Given the description of an element on the screen output the (x, y) to click on. 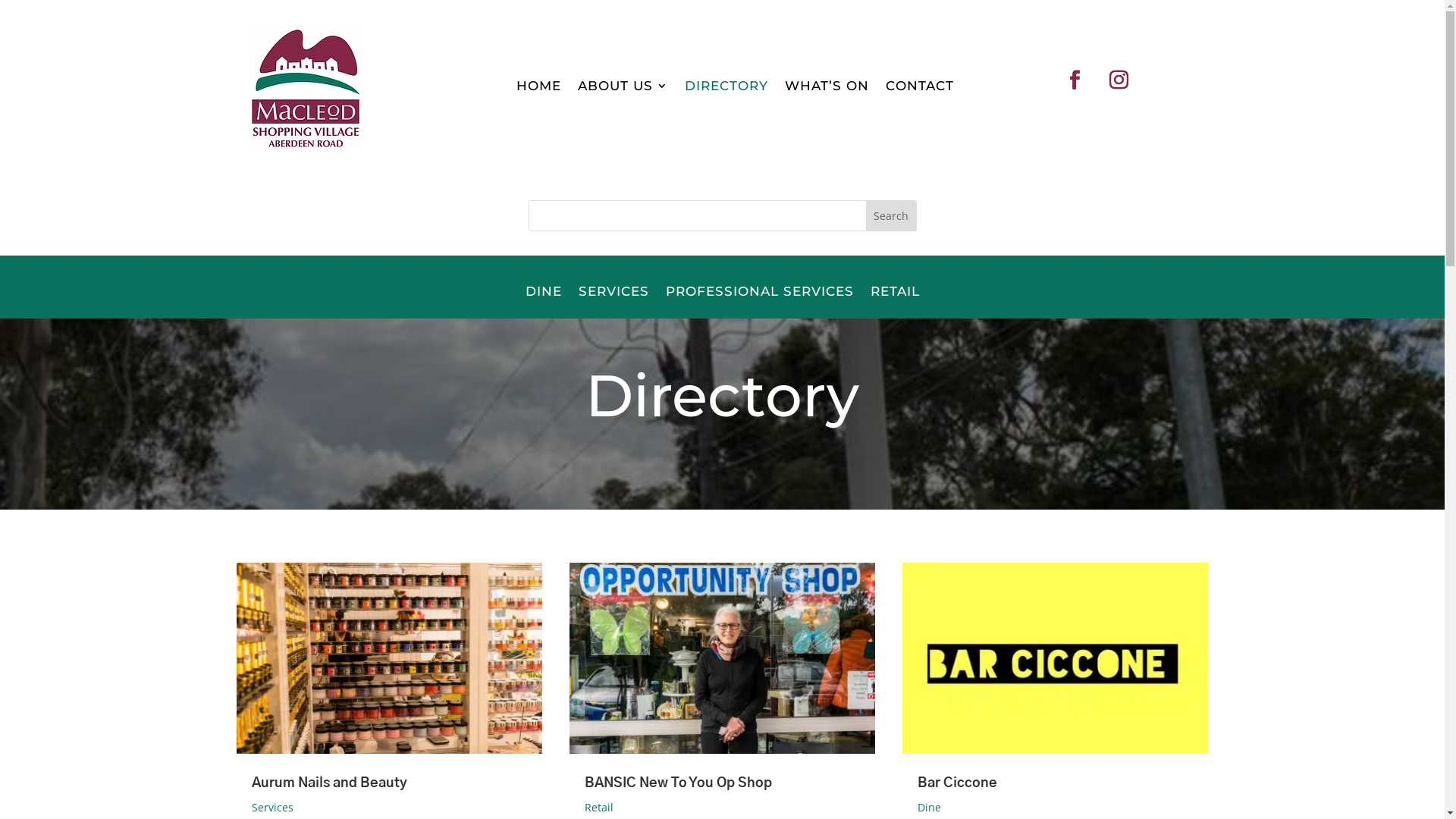
ABOUT US Element type: text (622, 88)
RETAIL Element type: text (894, 301)
Bar Ciccone Element type: text (957, 783)
Dine Element type: text (929, 807)
DINE Element type: text (542, 301)
Search Element type: text (891, 215)
Services Element type: text (272, 807)
Retail Element type: text (598, 807)
BANSIC New To You Op Shop Element type: text (677, 783)
HOME Element type: text (538, 88)
Follow on Instagram Element type: hover (1119, 80)
PROFESSIONAL SERVICES Element type: text (759, 301)
DIRECTORY Element type: text (726, 88)
Aurum Nails and Beauty Element type: text (329, 783)
CONTACT Element type: text (919, 88)
SERVICES Element type: text (612, 301)
Macleod Shopping Village Element type: hover (304, 87)
Follow on Facebook Element type: hover (1075, 79)
